Given the description of an element on the screen output the (x, y) to click on. 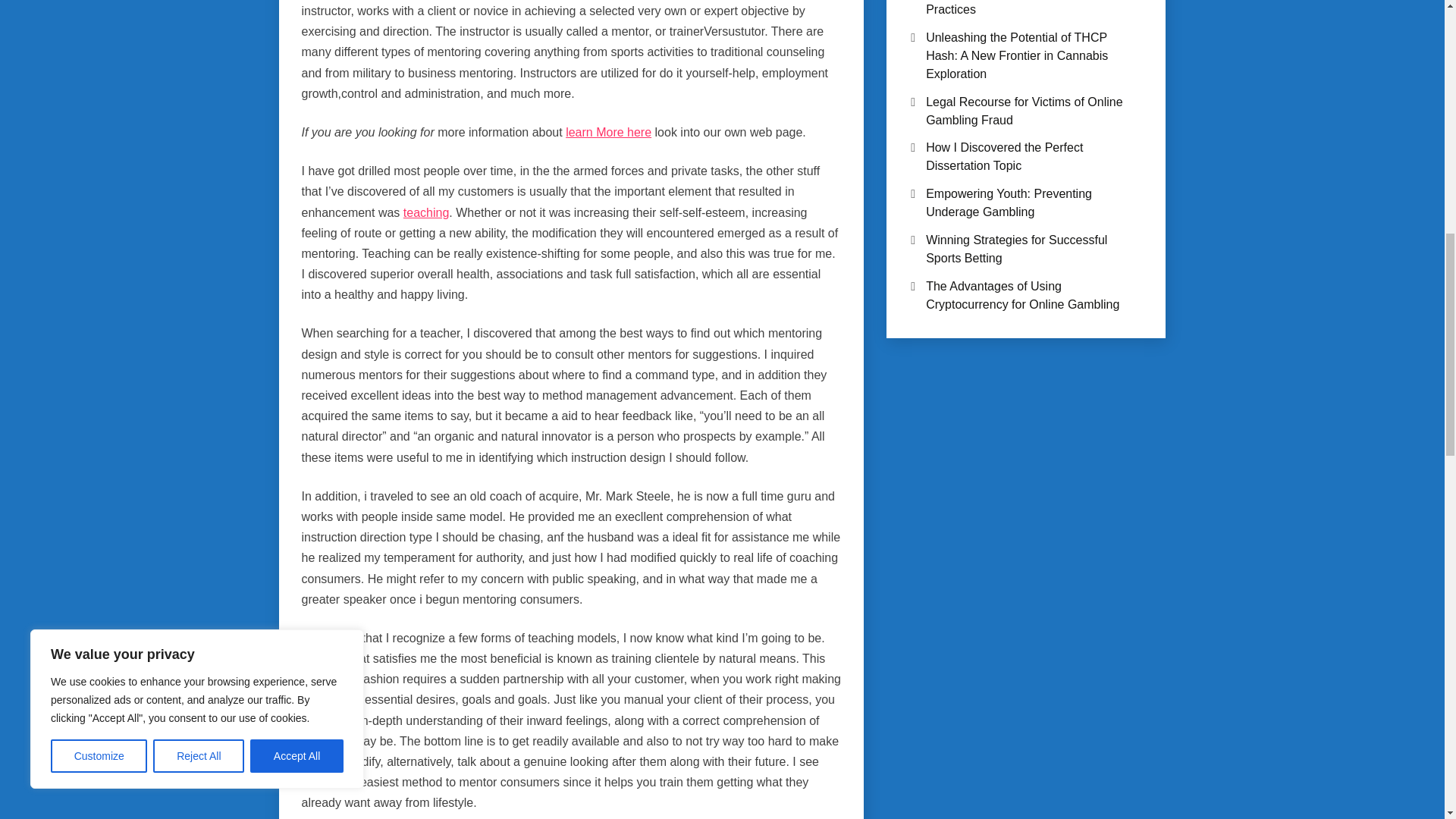
teaching (426, 212)
learn More here (608, 132)
